Given the description of an element on the screen output the (x, y) to click on. 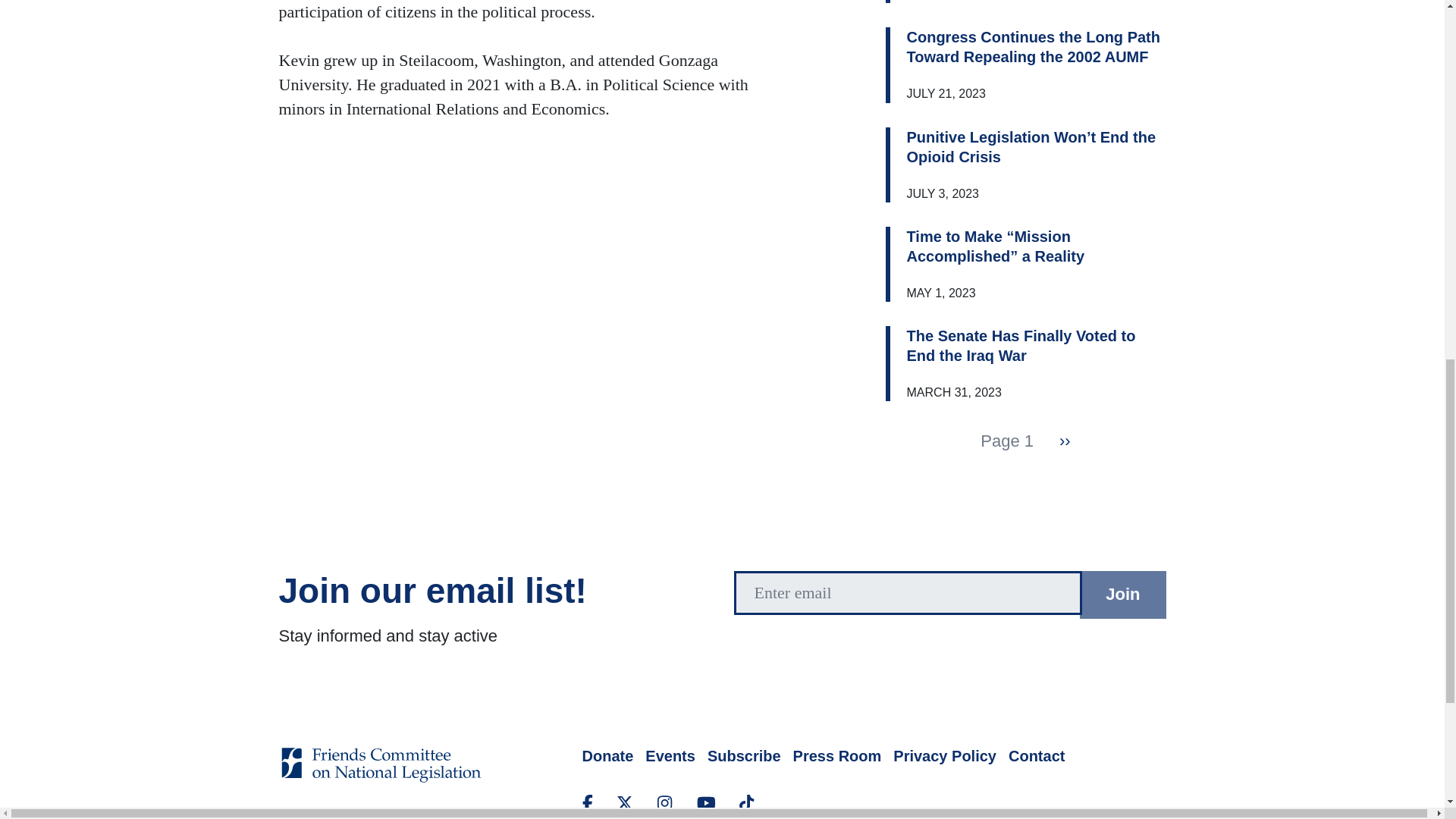
FCNL Home (381, 774)
Monday, July 3, 2023 - 08:00 (942, 193)
Monday, May 1, 2023 - 00:00 (941, 292)
Friday, March 31, 2023 - 13:44 (954, 391)
Go to next page (1064, 441)
Friday, July 21, 2023 - 02:23 (946, 92)
